Given the description of an element on the screen output the (x, y) to click on. 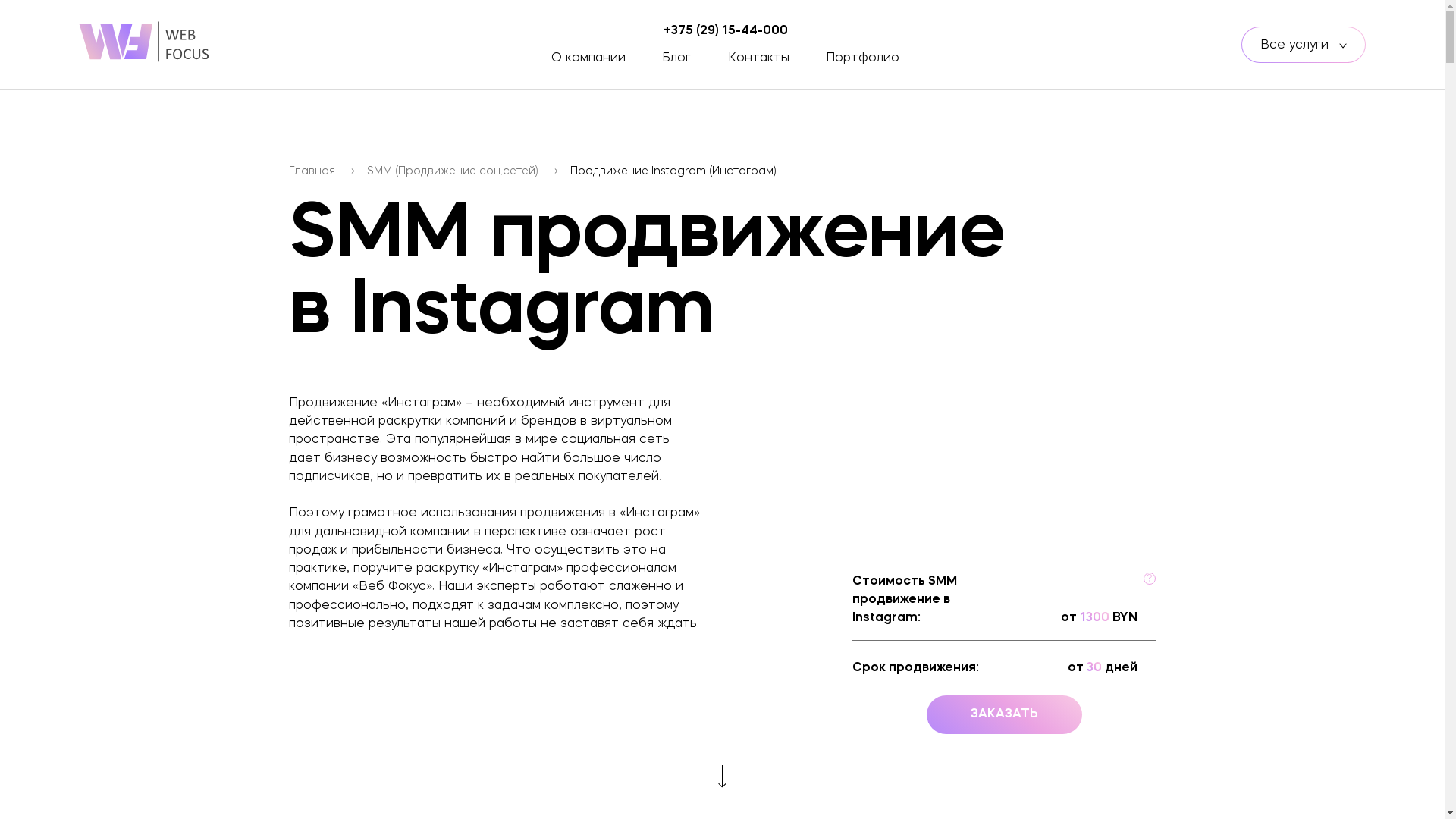
+375 (29) 15-44-000 Element type: text (725, 31)
